Given the description of an element on the screen output the (x, y) to click on. 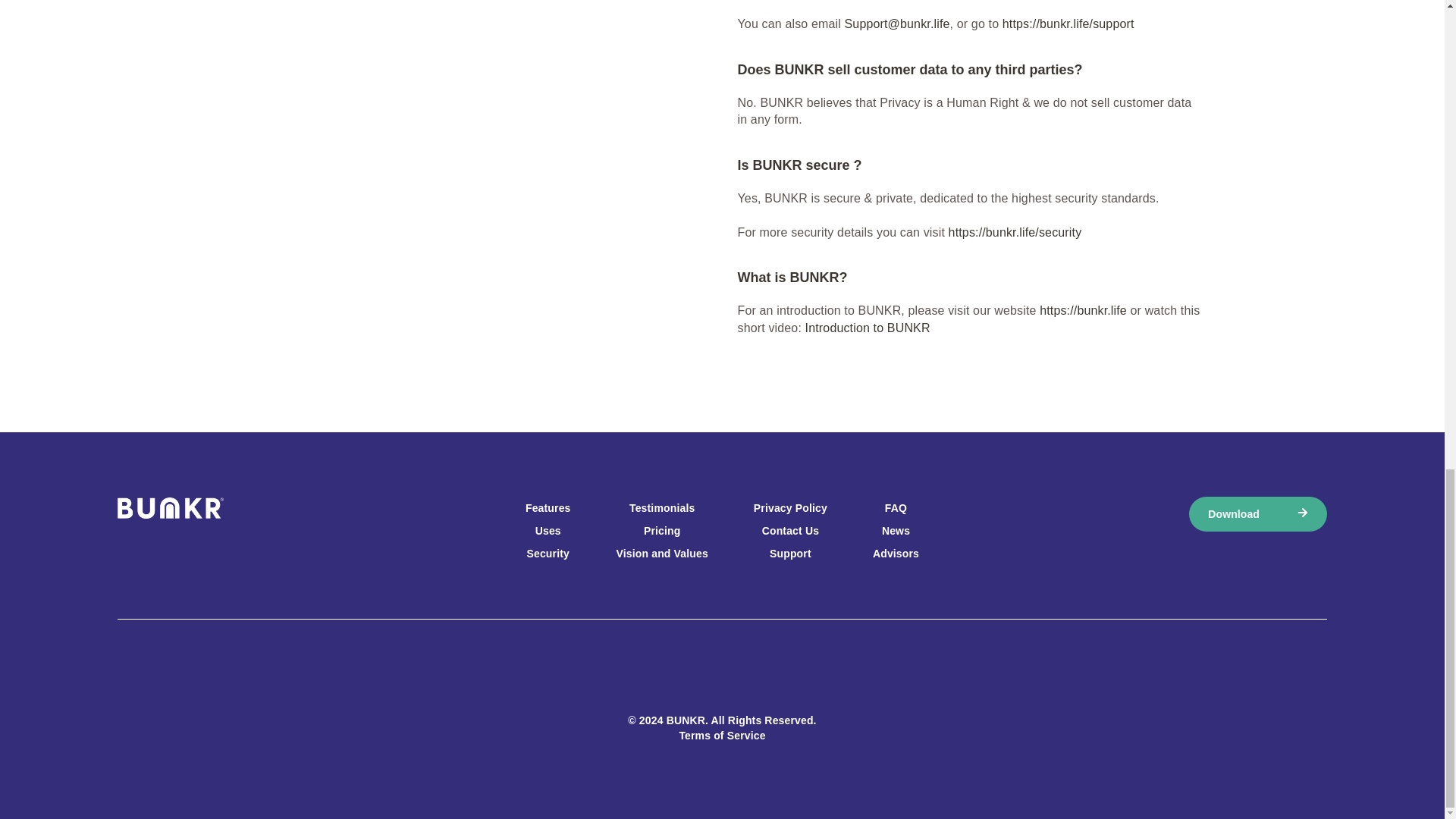
Introduction to BUNKR (867, 327)
